Given the description of an element on the screen output the (x, y) to click on. 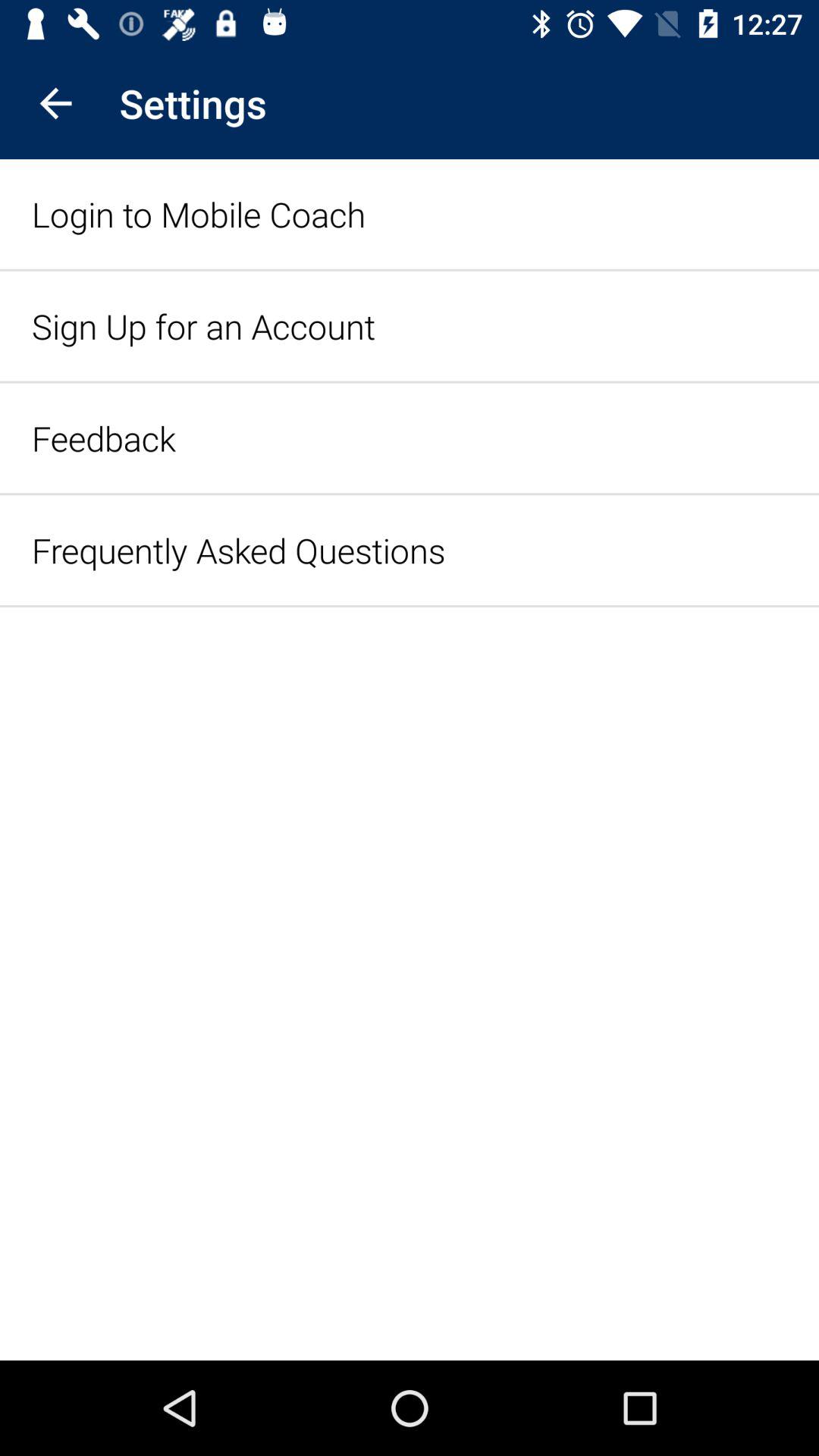
press icon above login to mobile item (55, 103)
